Given the description of an element on the screen output the (x, y) to click on. 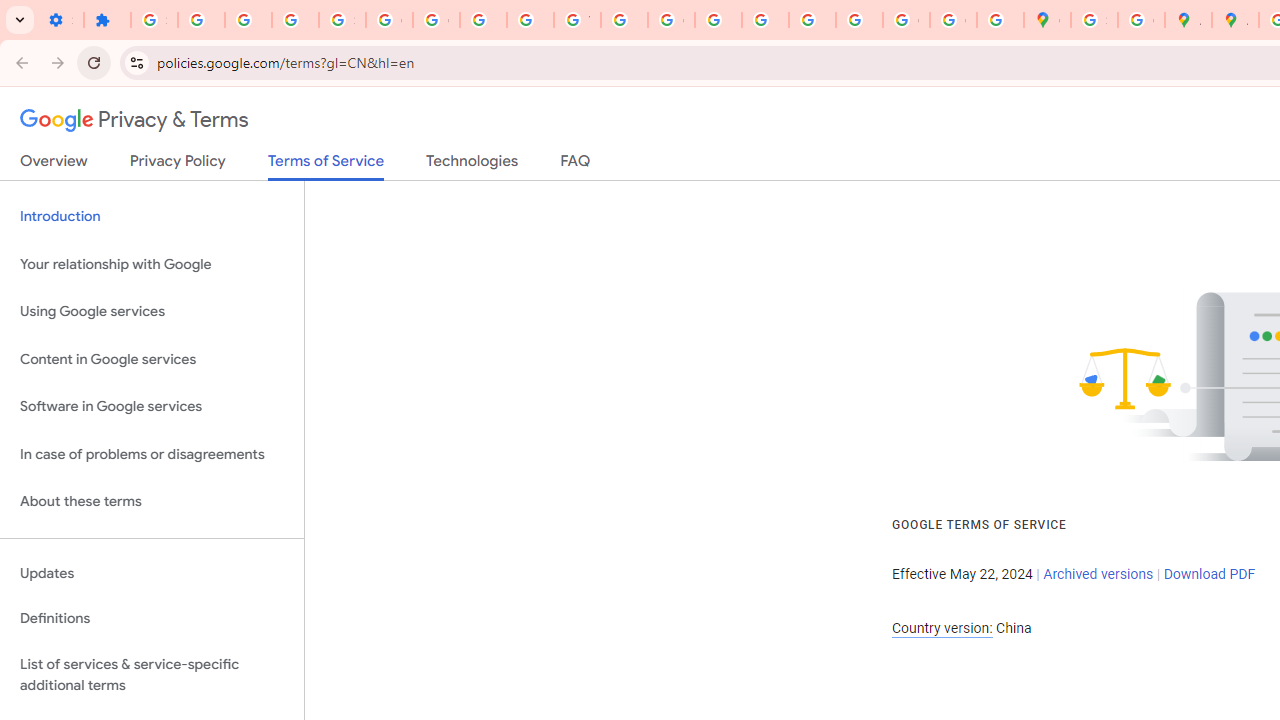
In case of problems or disagreements (152, 453)
